Given the description of an element on the screen output the (x, y) to click on. 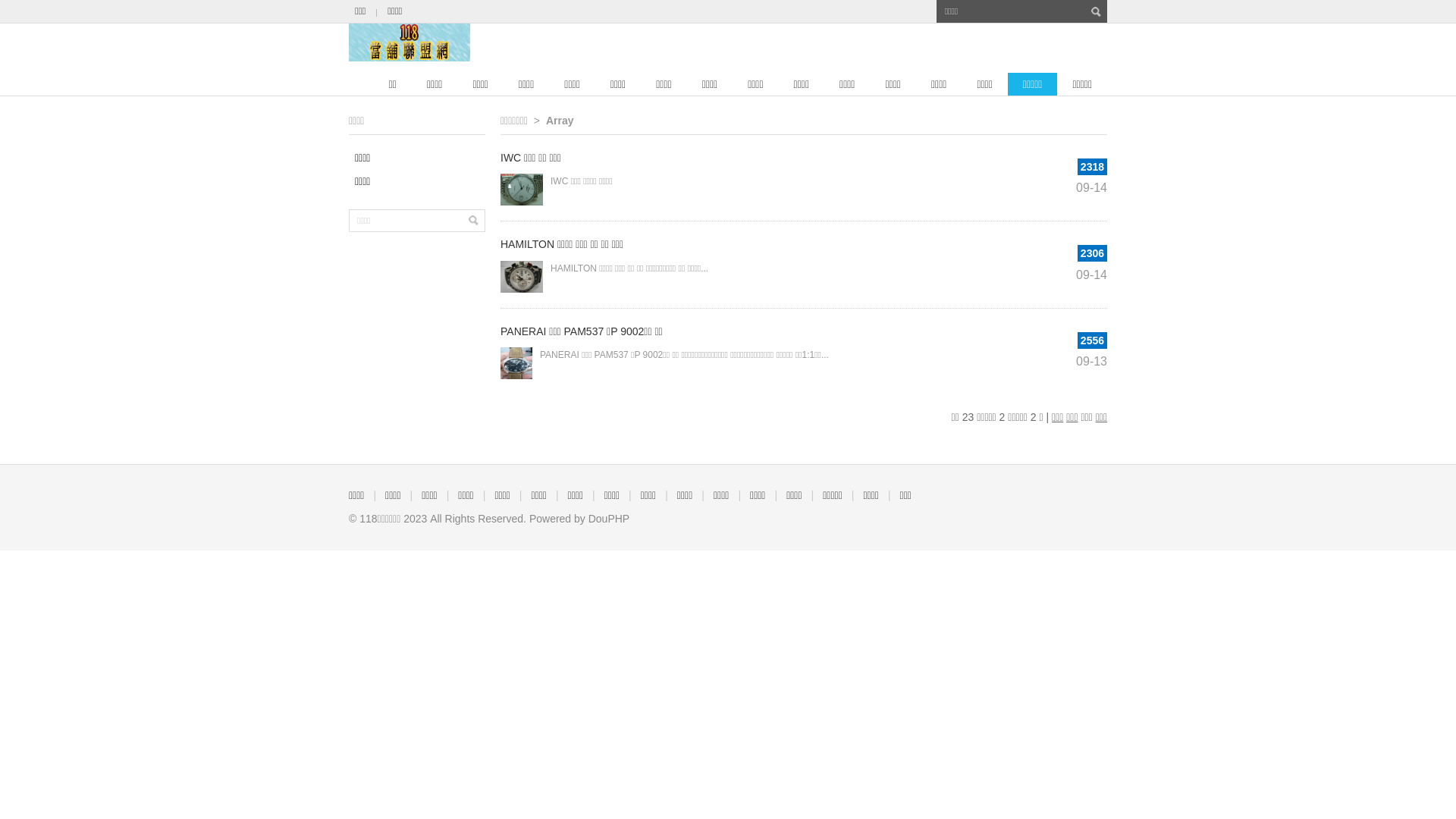
Powered by DouPHP Element type: text (579, 518)
